Given the description of an element on the screen output the (x, y) to click on. 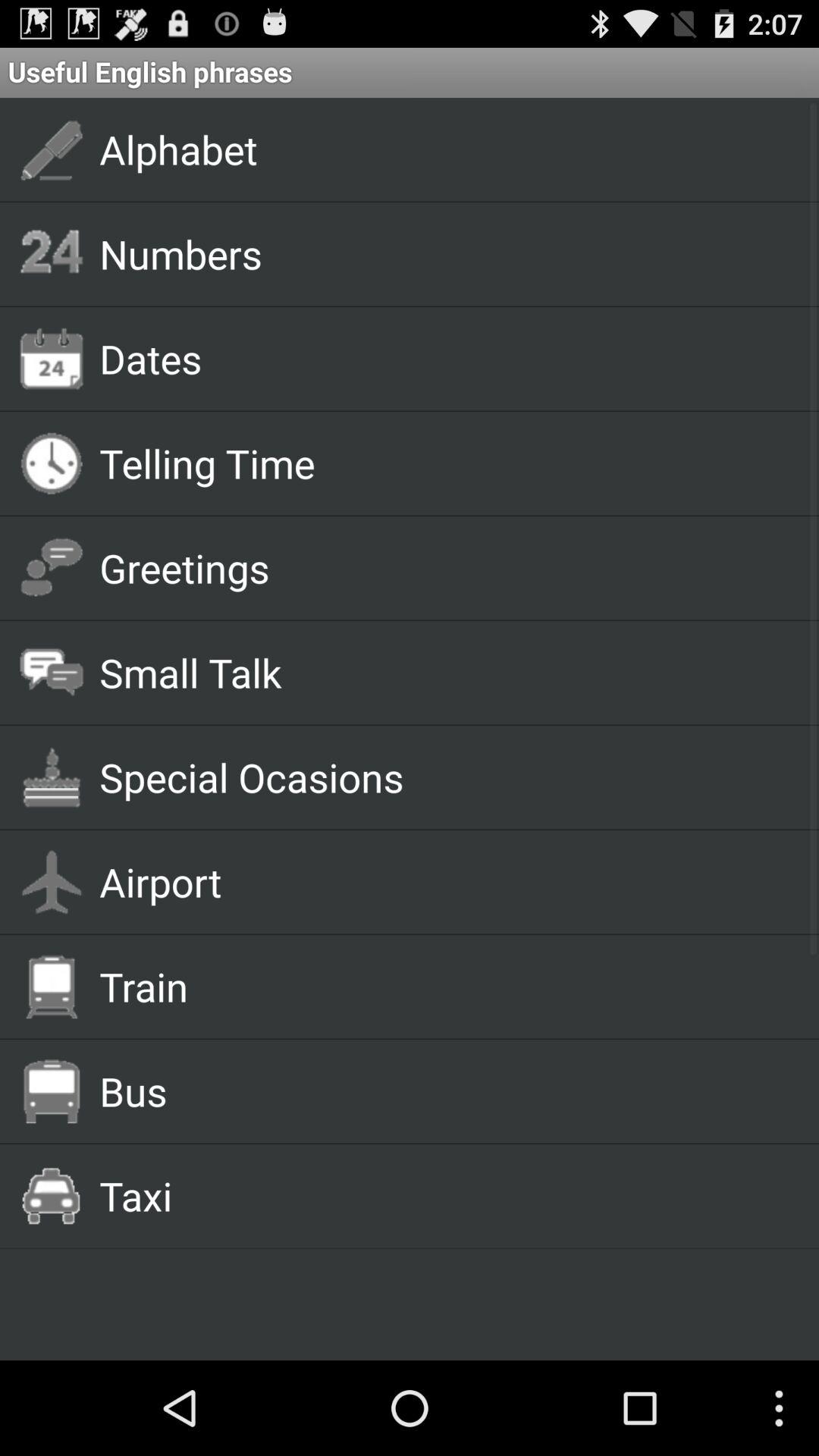
press airport (441, 881)
